Given the description of an element on the screen output the (x, y) to click on. 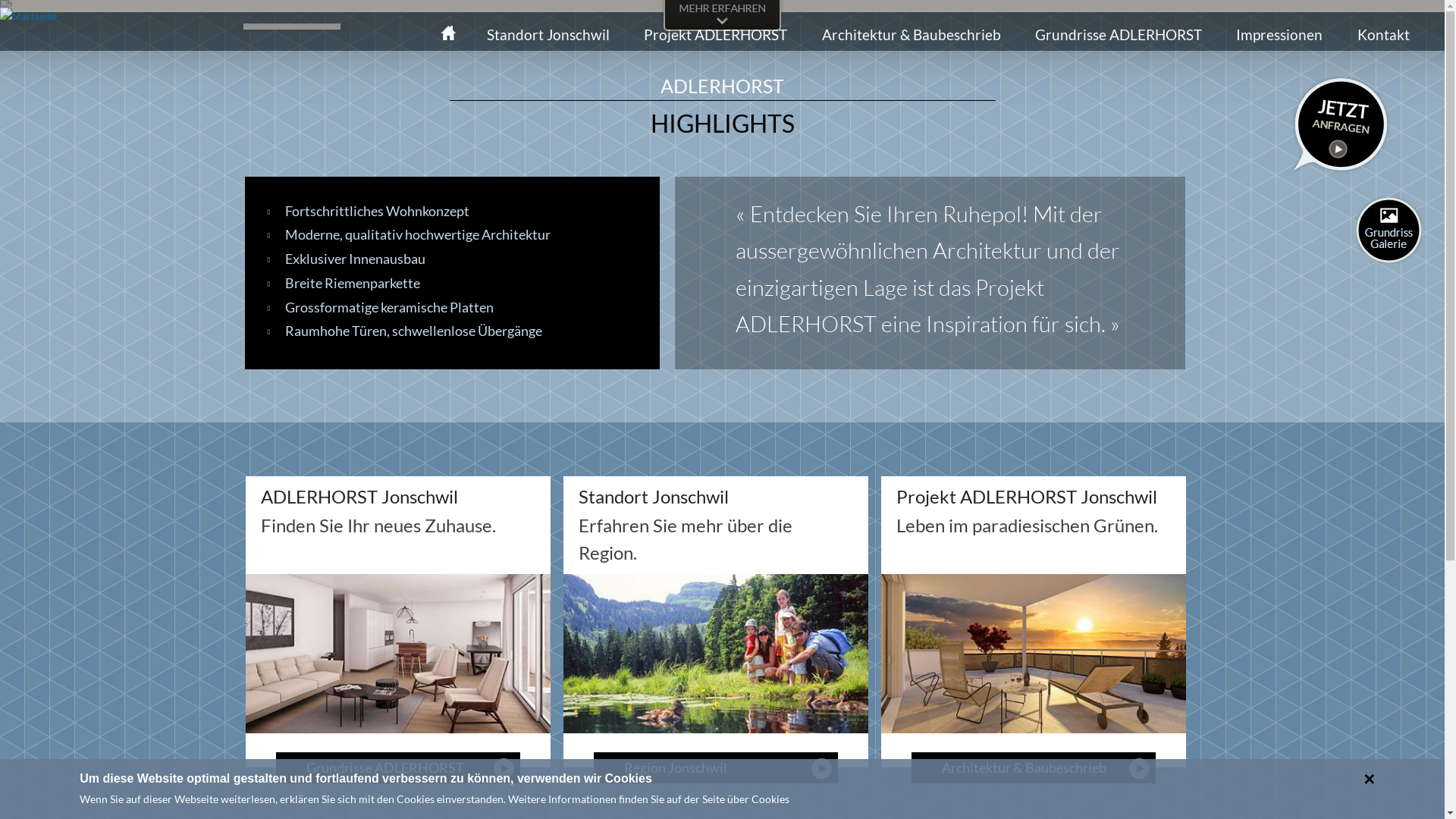
Kontakt Element type: text (1383, 35)
Grundrisse ADLERHORST Element type: text (1118, 35)
adlerhorst-jonschwil-teaser4.jpg Element type: text (691, 600)
Impressionen Element type: text (1278, 35)
Startseite Element type: text (451, 35)
Grundrisse ADLERHORST Element type: text (398, 767)
Architektur & Baubeschrieb Element type: text (1033, 767)
Direkt zum Inhalt Element type: text (687, 1)
Standort Jonschwil Element type: text (548, 35)
adlerhorst-jonschwil-teaser2.jpg Element type: text (1009, 600)
Projekt ADLERHORST Element type: text (715, 35)
Architektur & Baubeschrieb Element type: text (910, 35)
Grundriss-Galerie Element type: text (1388, 230)
Startseite Element type: hover (28, 15)
Region Jonschwil Element type: text (715, 767)
adlerhorst-jonschwil-teaser1.jpg Element type: text (373, 600)
